Given the description of an element on the screen output the (x, y) to click on. 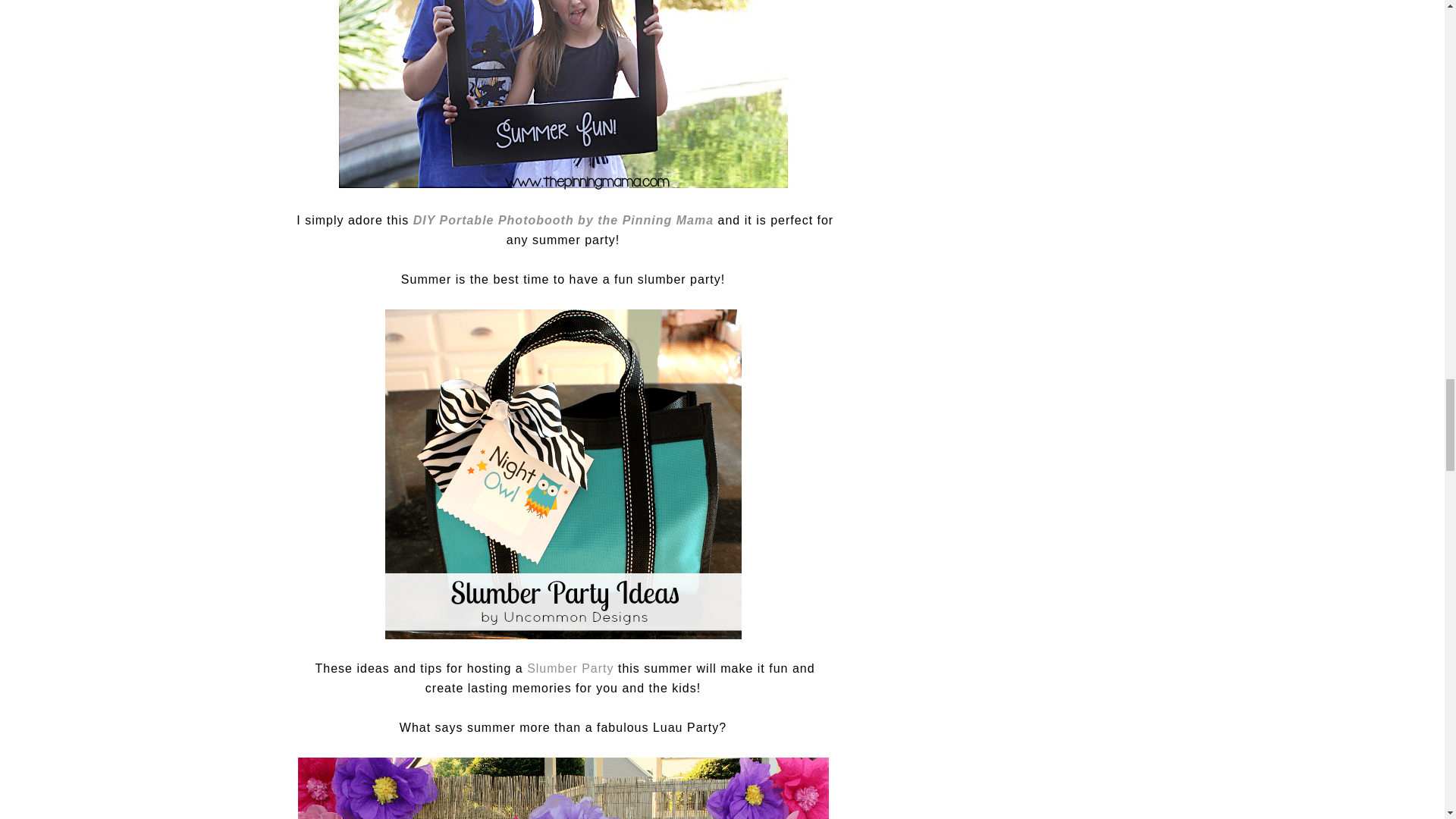
Slumber Party Ideas for kids via Uncommon Designs. (563, 474)
Slumber Party Tips and Ideas (569, 667)
